Given the description of an element on the screen output the (x, y) to click on. 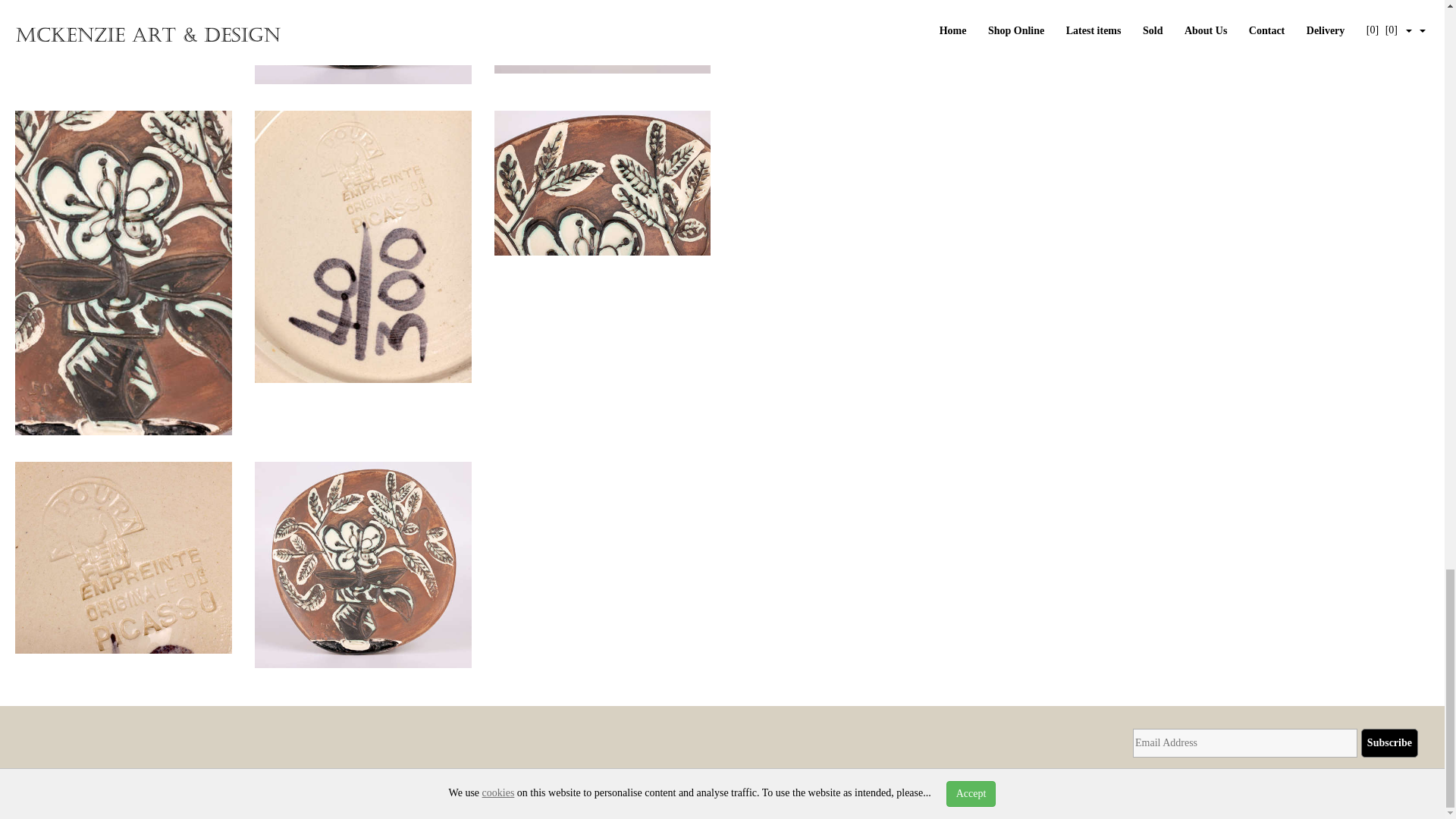
Subscribe (1389, 742)
Antiques website design (186, 787)
Terms (742, 787)
Antiques (347, 787)
ph9 web design (287, 787)
Privacy (704, 787)
